Given the description of an element on the screen output the (x, y) to click on. 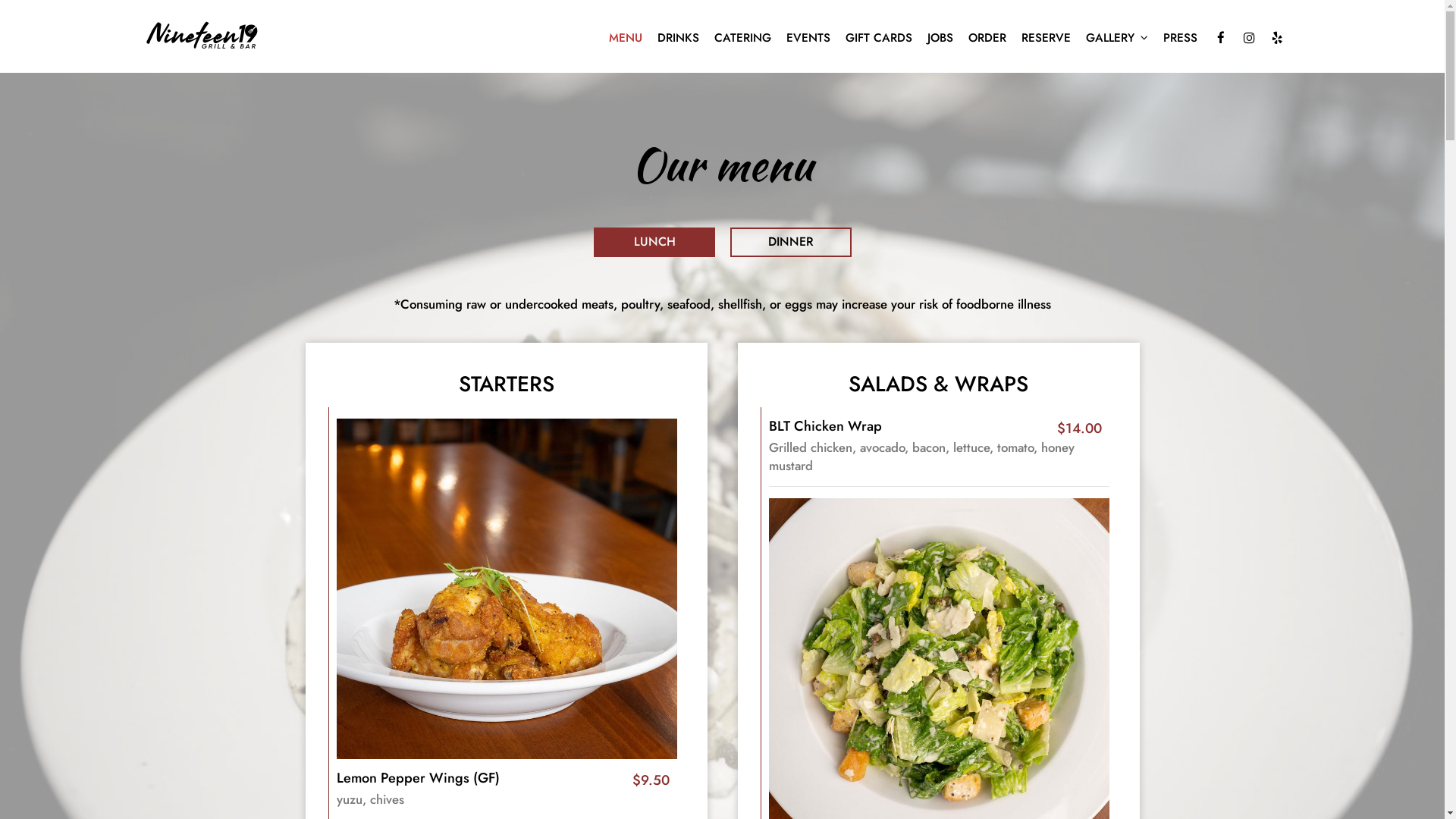
PRESS Element type: text (1179, 37)
ORDER Element type: text (986, 37)
DINNER Element type: text (789, 242)
DRINKS Element type: text (677, 37)
RESERVE Element type: text (1045, 37)
JOBS Element type: text (939, 37)
MENU Element type: text (624, 37)
CATERING Element type: text (742, 37)
GIFT CARDS Element type: text (878, 37)
LUNCH Element type: text (653, 242)
EVENTS Element type: text (807, 37)
GALLERY Element type: text (1116, 37)
